Given the description of an element on the screen output the (x, y) to click on. 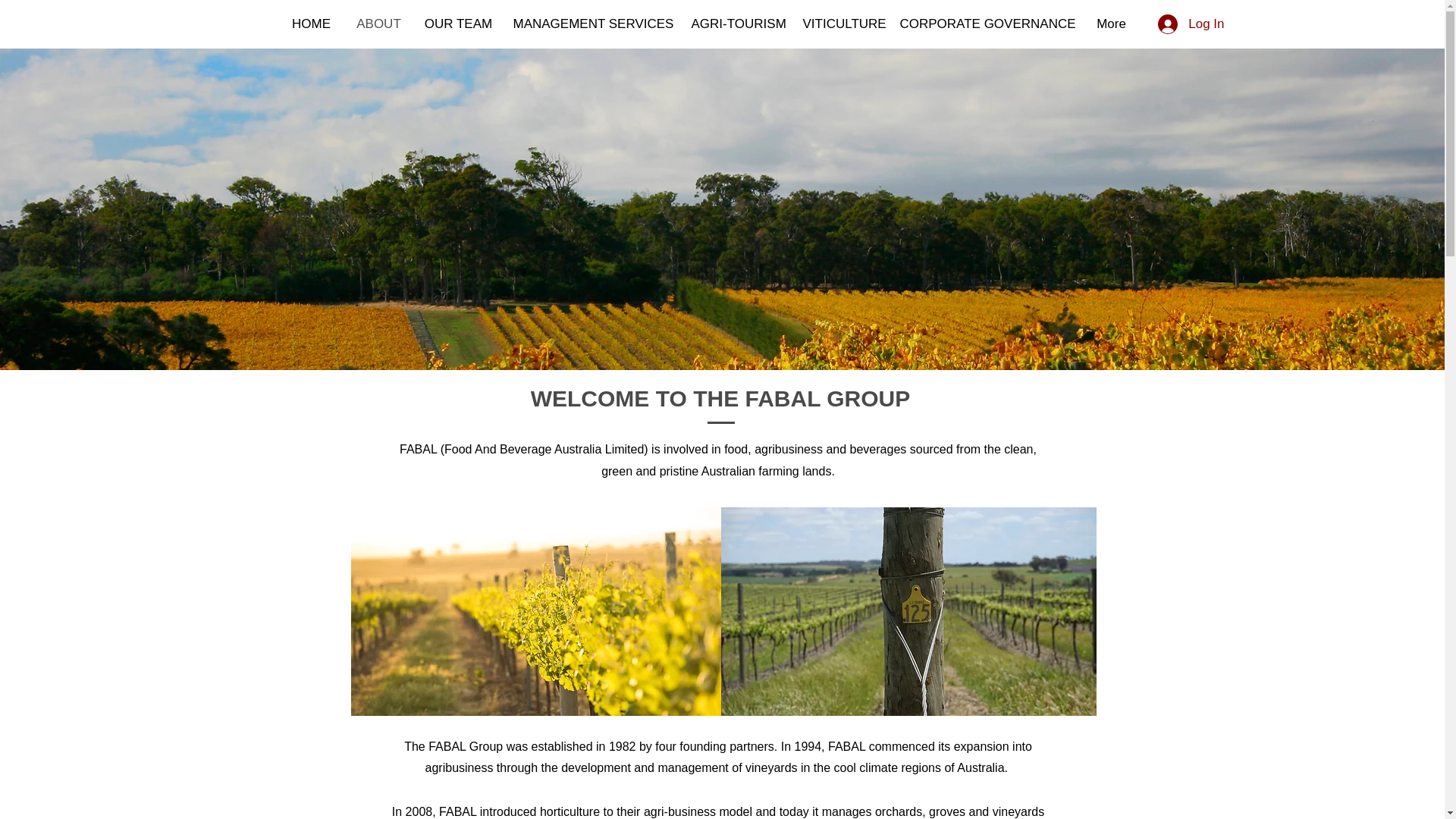
CORPORATE GOVERNANCE (986, 24)
HOME (311, 24)
MANAGEMENT SERVICES (592, 24)
Log In (1190, 23)
ABOUT (378, 24)
AGRI-TOURISM (736, 24)
VITICULTURE (841, 24)
